Given the description of an element on the screen output the (x, y) to click on. 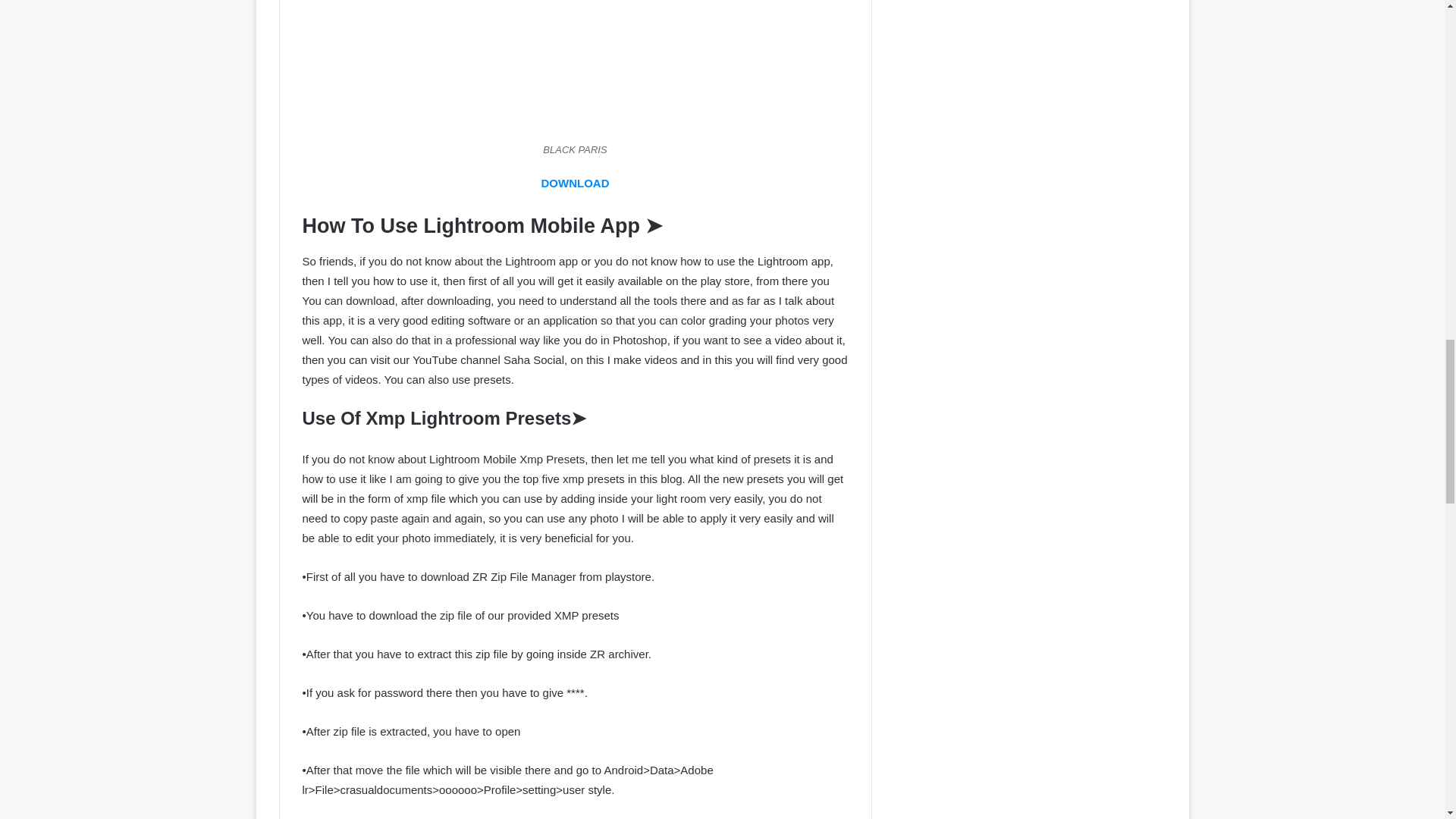
DOWNLOAD (575, 182)
